Given the description of an element on the screen output the (x, y) to click on. 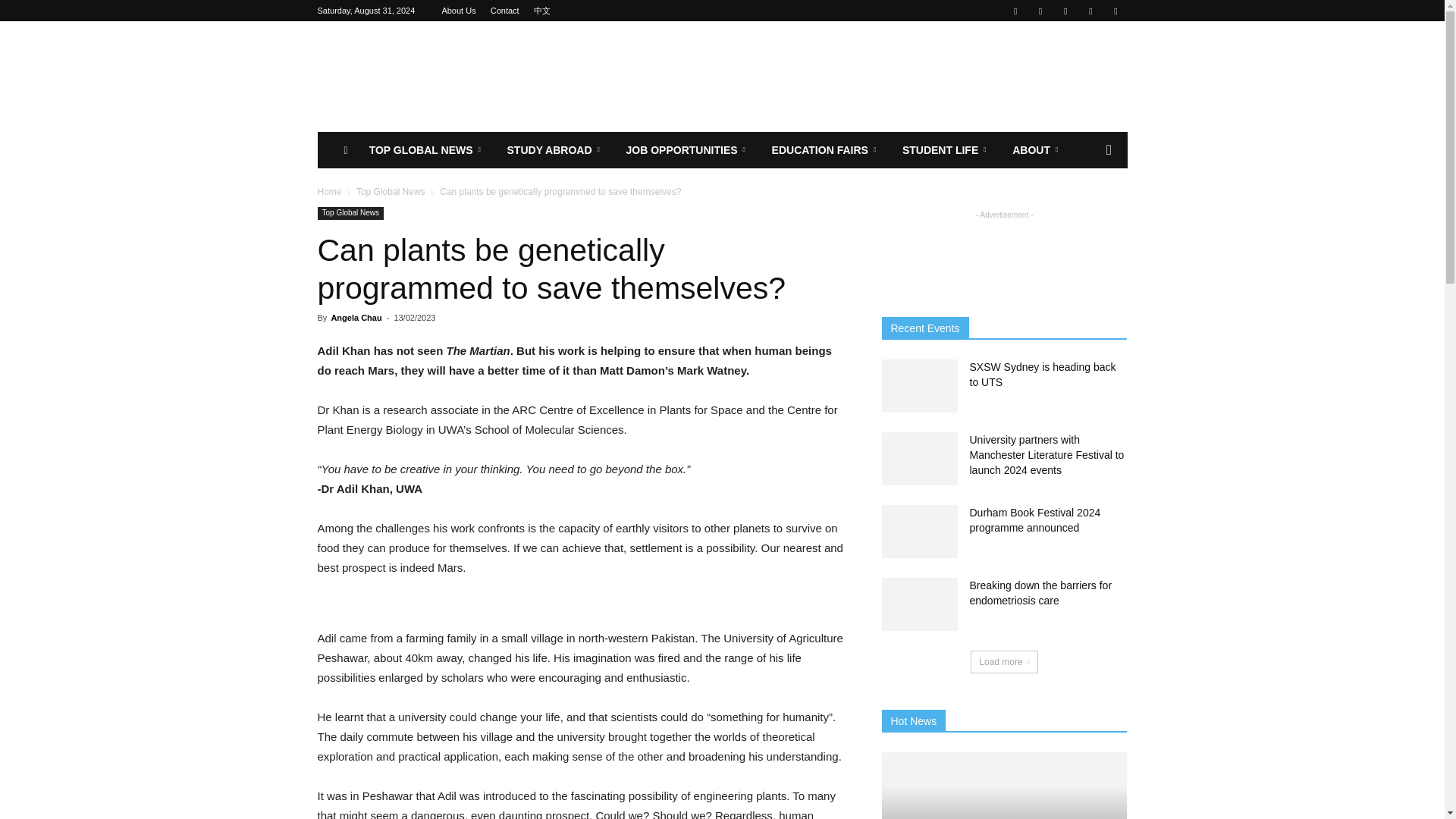
VKontakte (1090, 10)
About Us (458, 10)
Contact (504, 10)
TOP GLOBAL NEWS (427, 149)
Twitter (1040, 10)
Facebook (1015, 10)
Youtube (1114, 10)
Vimeo (1065, 10)
